Given the description of an element on the screen output the (x, y) to click on. 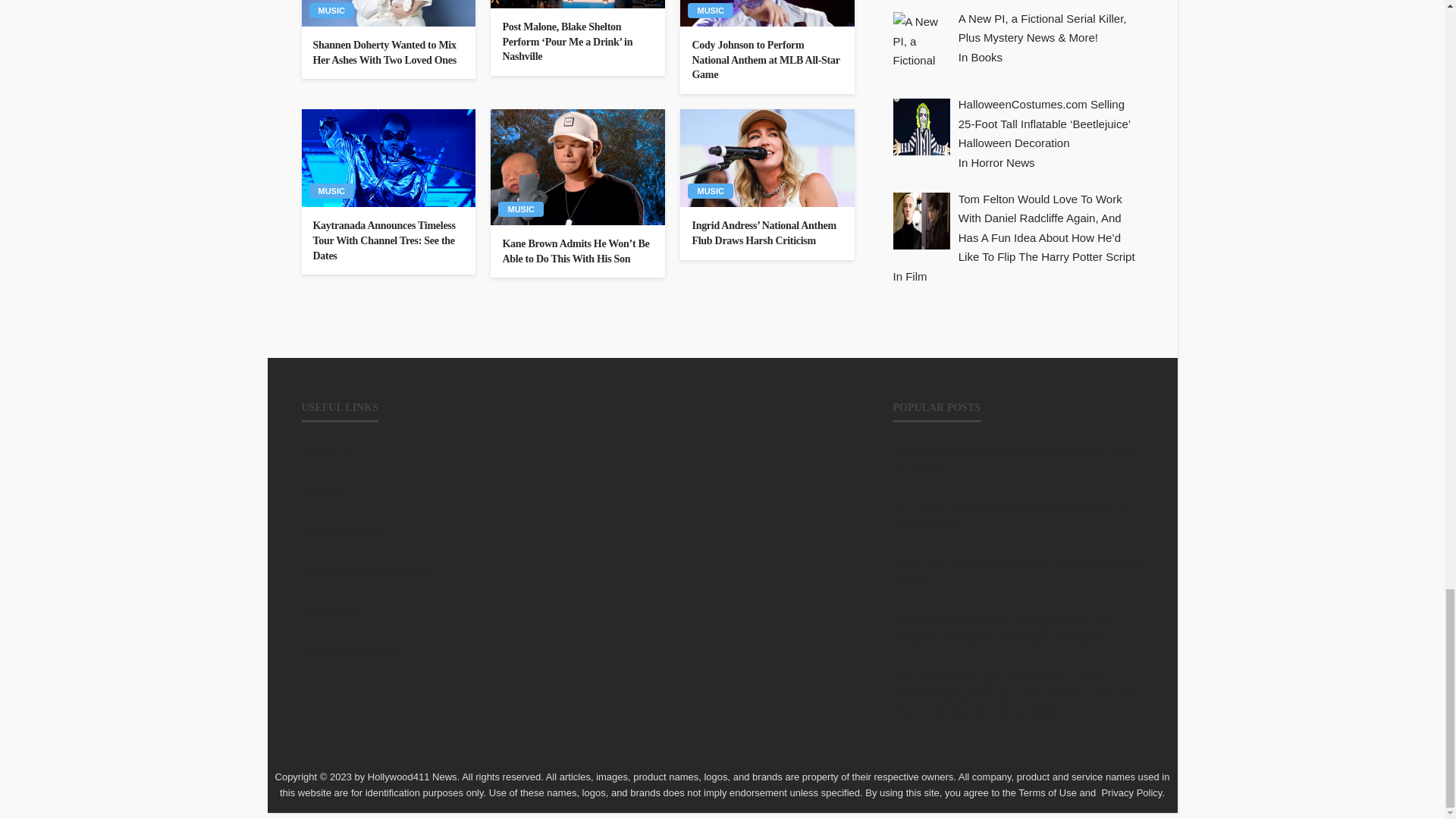
Music (709, 10)
Cody Johnson to Perform National Anthem at MLB All-Star Game (767, 59)
Shannen Doherty Wanted to Mix Her Ashes With Two Loved Ones (388, 13)
Music (330, 10)
Shannen Doherty Wanted to Mix Her Ashes With Two Loved Ones (388, 52)
Cody Johnson to Perform National Anthem at MLB All-Star Game (766, 13)
